Given the description of an element on the screen output the (x, y) to click on. 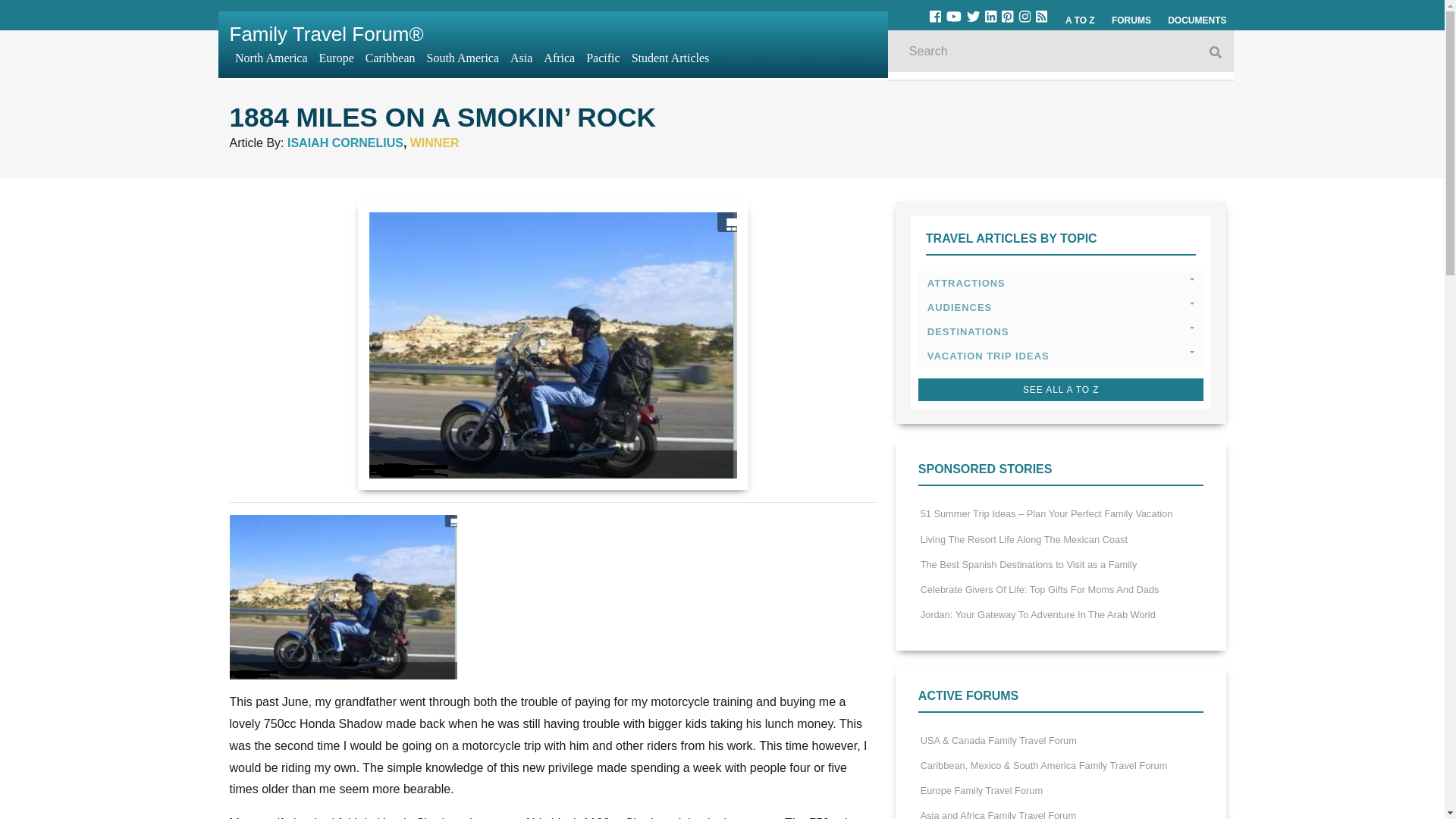
Forums (1131, 20)
A to Z Links (1079, 20)
ATTRACTIONS (1061, 282)
ISAIAH CORNELIUS (344, 142)
AUDIENCES (1061, 306)
Family Travel Forum (325, 33)
Travel Documents (1196, 20)
